Given the description of an element on the screen output the (x, y) to click on. 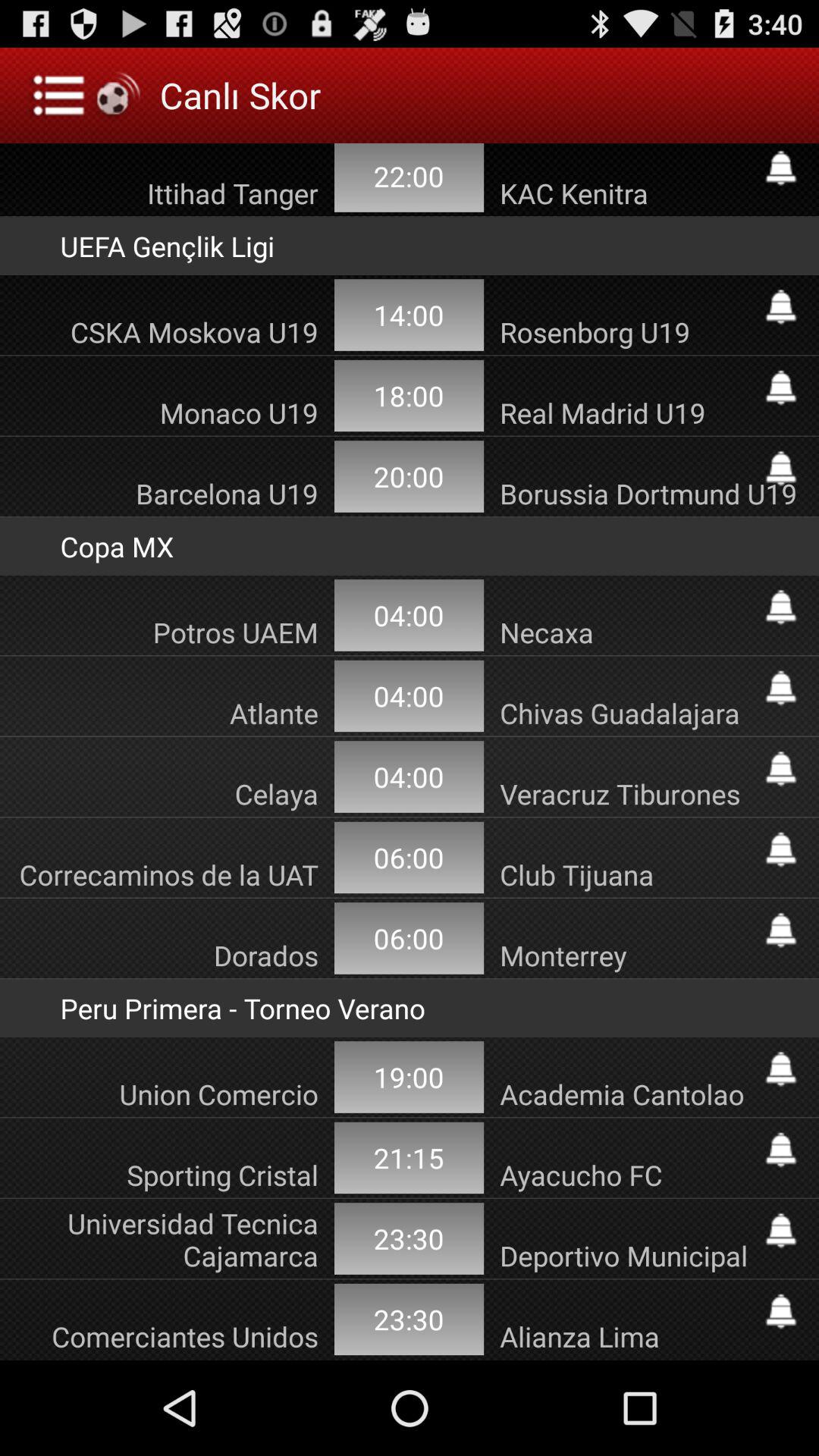
turn on notification (780, 1149)
